Given the description of an element on the screen output the (x, y) to click on. 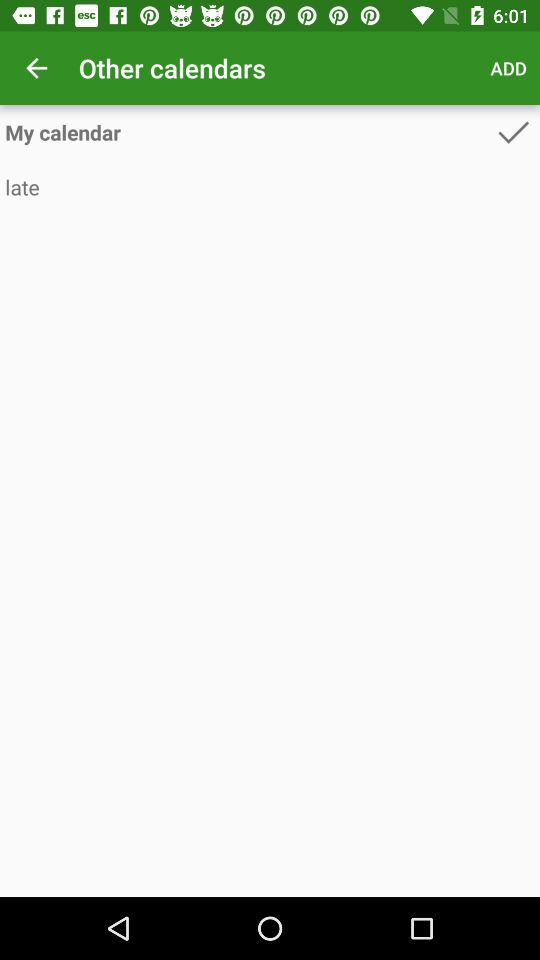
turn off the my calendar icon (248, 132)
